Given the description of an element on the screen output the (x, y) to click on. 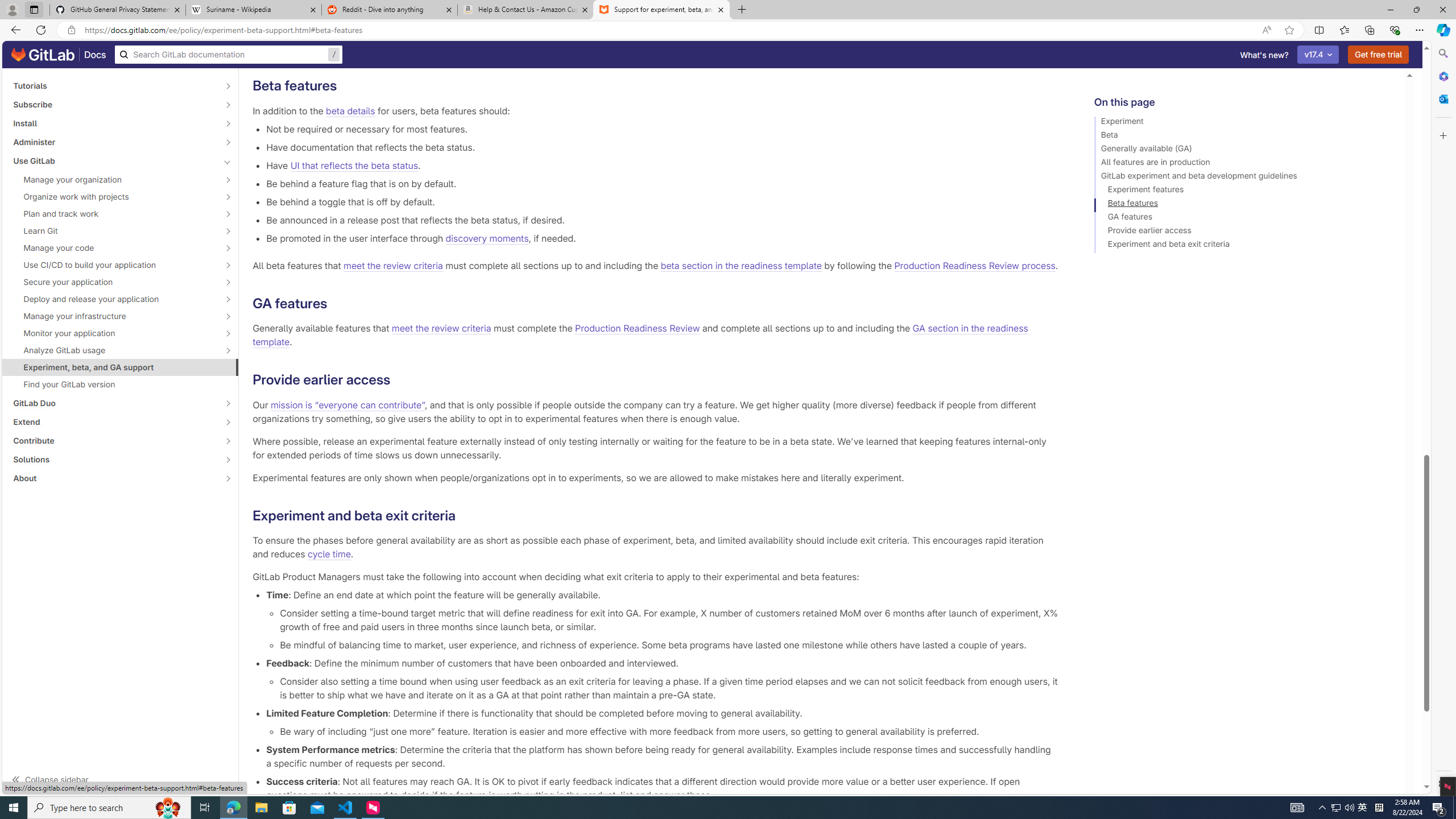
GA section in the readiness template (639, 335)
Manage your infrastructure (113, 316)
Provide earlier access (1244, 232)
beta details (350, 110)
